Given the description of an element on the screen output the (x, y) to click on. 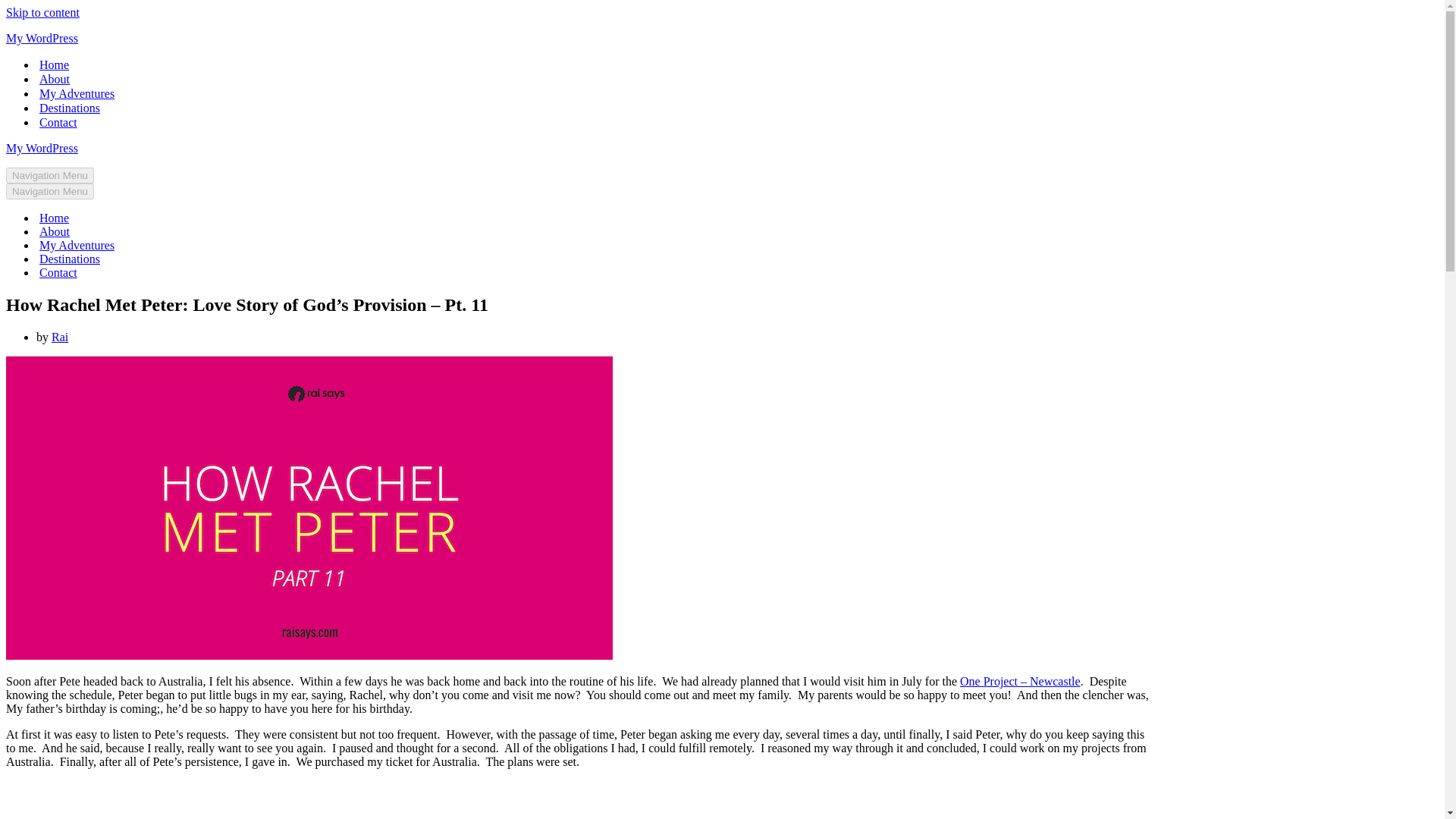
Home (53, 218)
Navigation Menu (49, 191)
Posts by Rai (59, 336)
Navigation Menu (49, 175)
Contact (58, 122)
About (54, 232)
My Adventures (77, 93)
Destinations (69, 259)
My Adventures (77, 245)
Rai (59, 336)
About (54, 79)
Destinations (69, 107)
Skip to content (42, 11)
Contact (58, 273)
Home (53, 64)
